Given the description of an element on the screen output the (x, y) to click on. 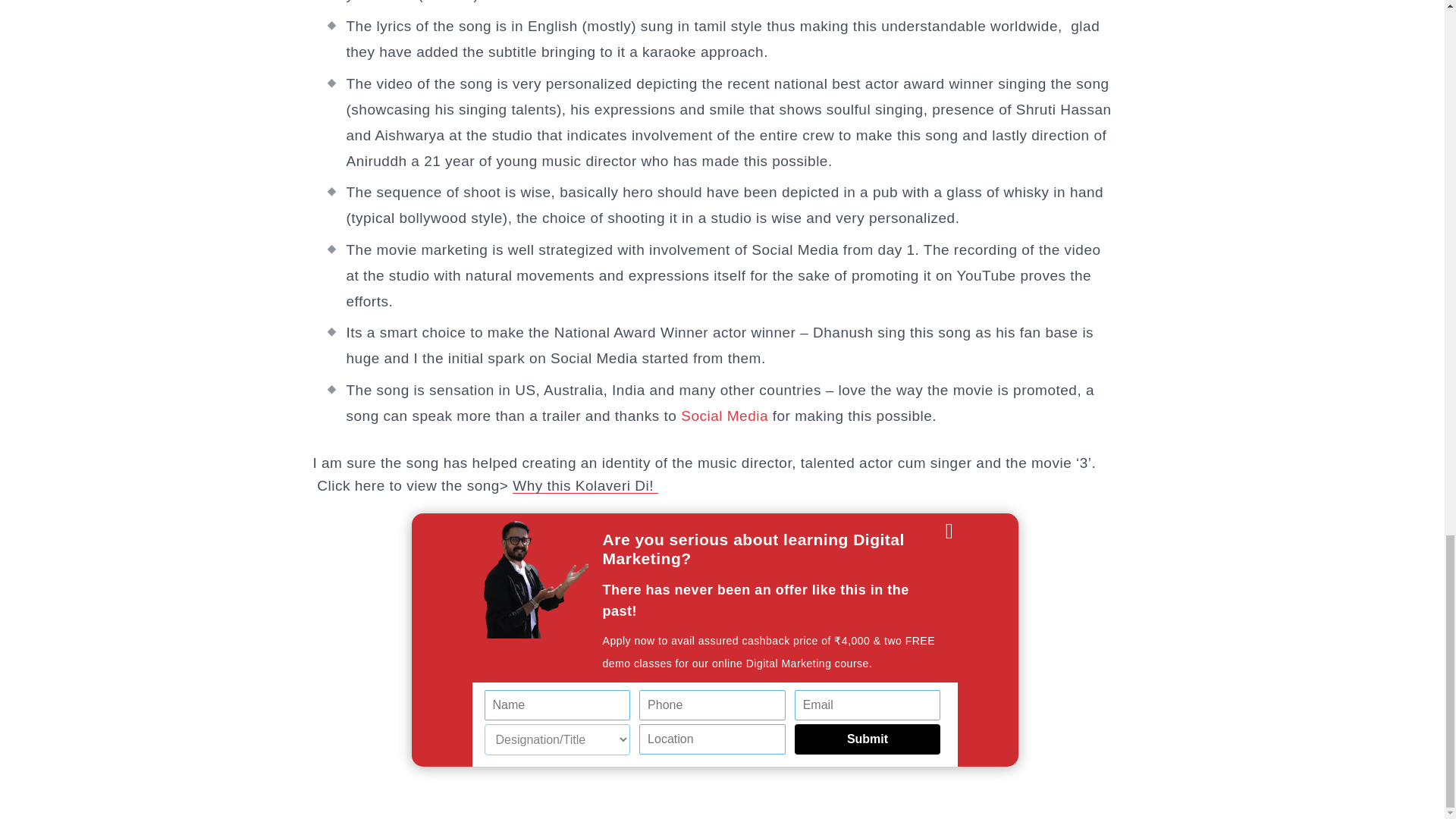
Submit (867, 738)
Social Media (724, 415)
Why this Kolaveri Di!  (585, 485)
Submit (867, 738)
digital-marketing-course-by-sorav (536, 579)
Submit (867, 738)
